Given the description of an element on the screen output the (x, y) to click on. 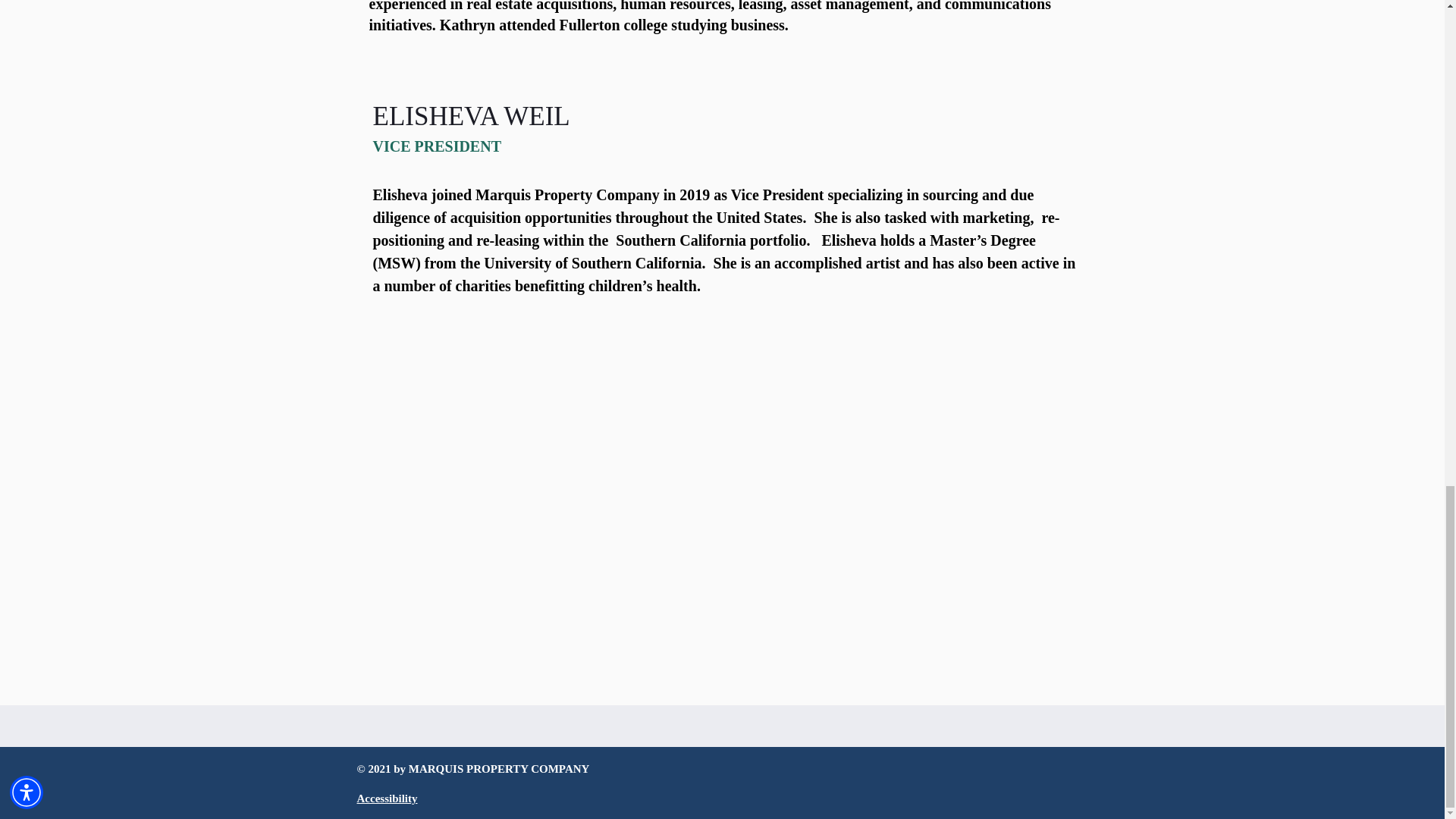
Accessibility (386, 798)
